Given the description of an element on the screen output the (x, y) to click on. 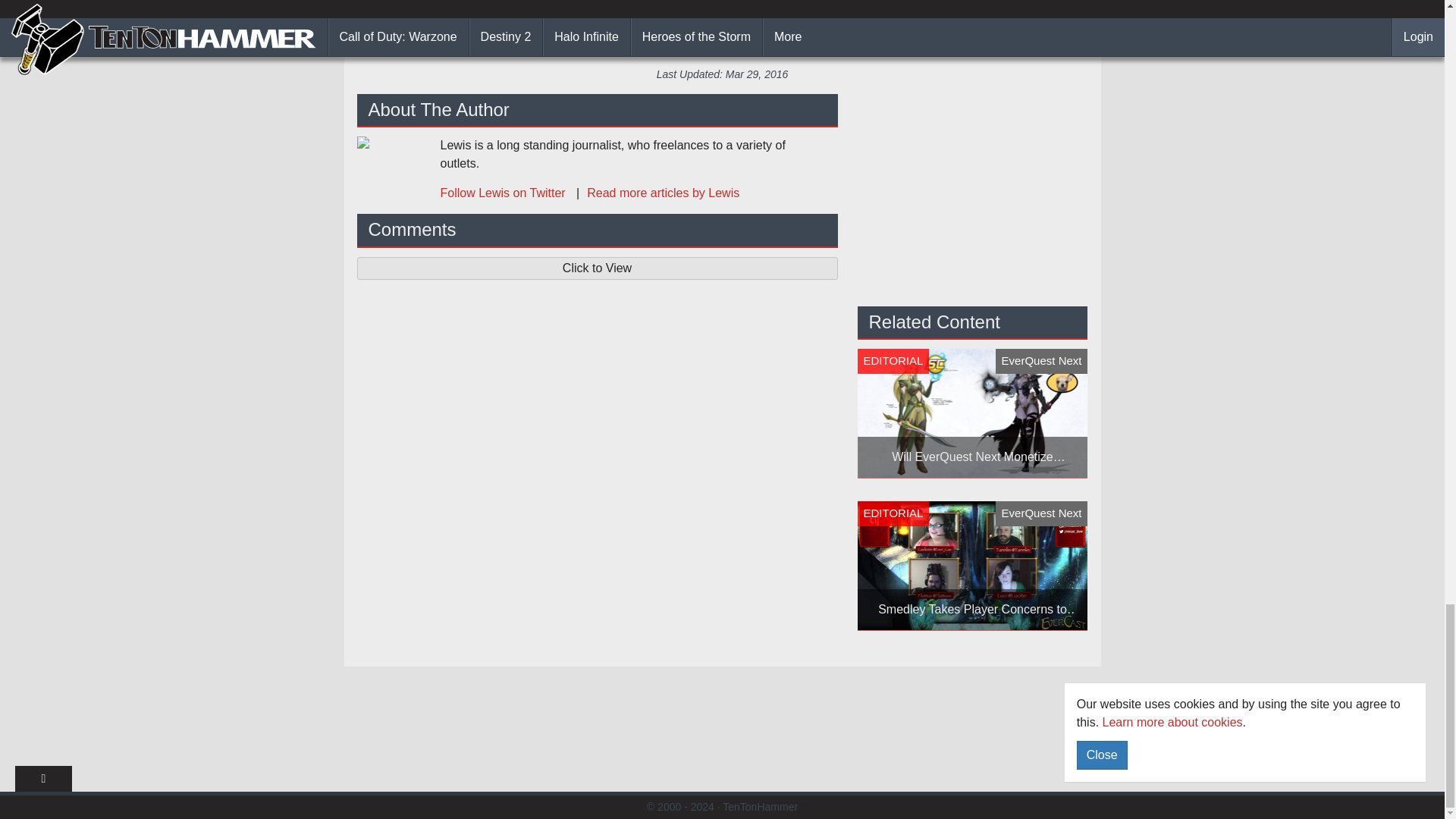
EverQuest Next (762, 3)
Follow Lewis on Twitter (504, 192)
Share on Reddit (793, 32)
Click to View (596, 268)
Smedley Takes Player Concerns to Heart (972, 565)
Share on Facebook (545, 32)
Will EverQuest Next Monetize Character Classes? (972, 413)
Share on Twitter (908, 32)
Read more articles by Lewis (654, 192)
